Given the description of an element on the screen output the (x, y) to click on. 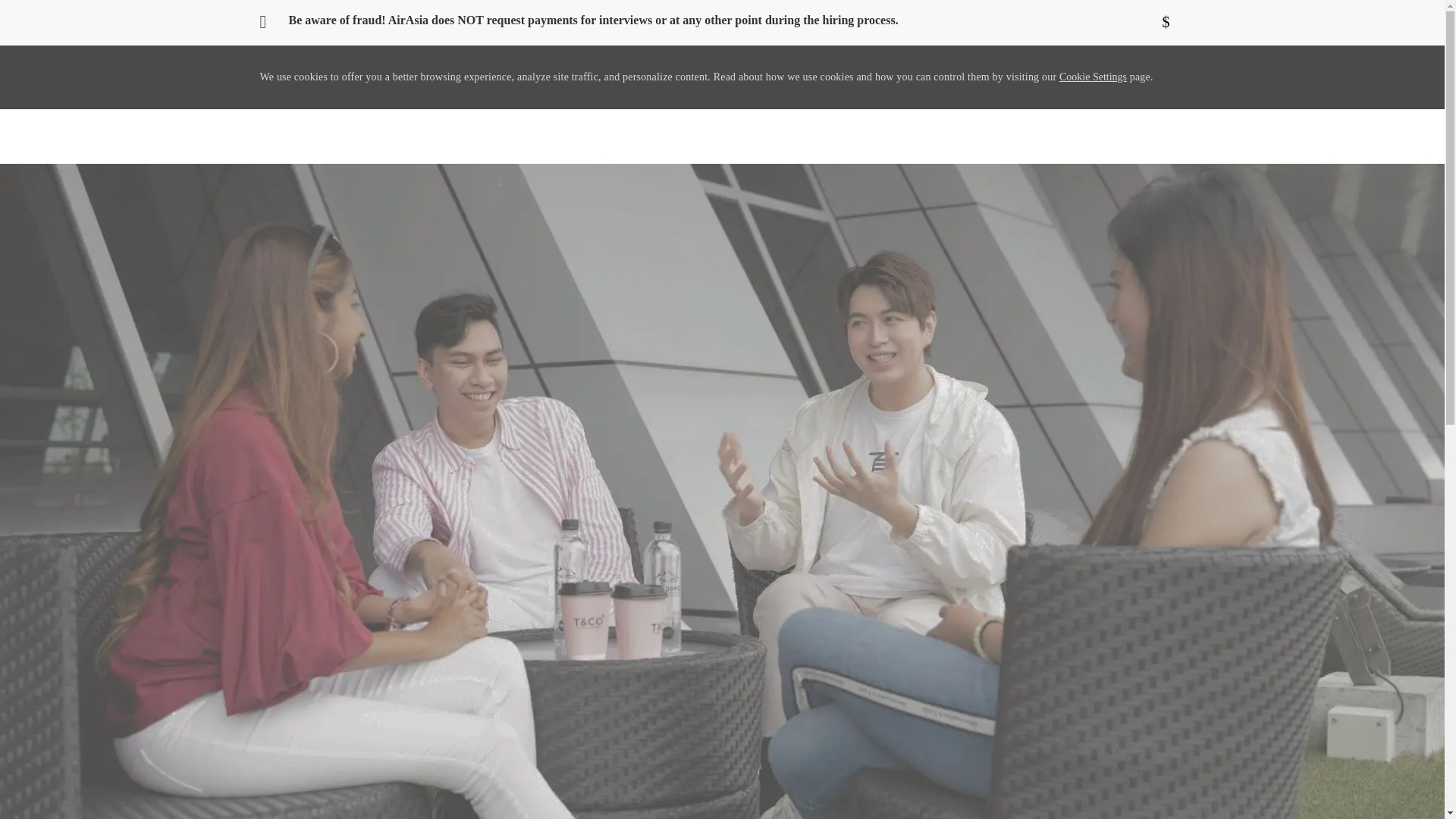
Cookie Settings (1092, 76)
